Given the description of an element on the screen output the (x, y) to click on. 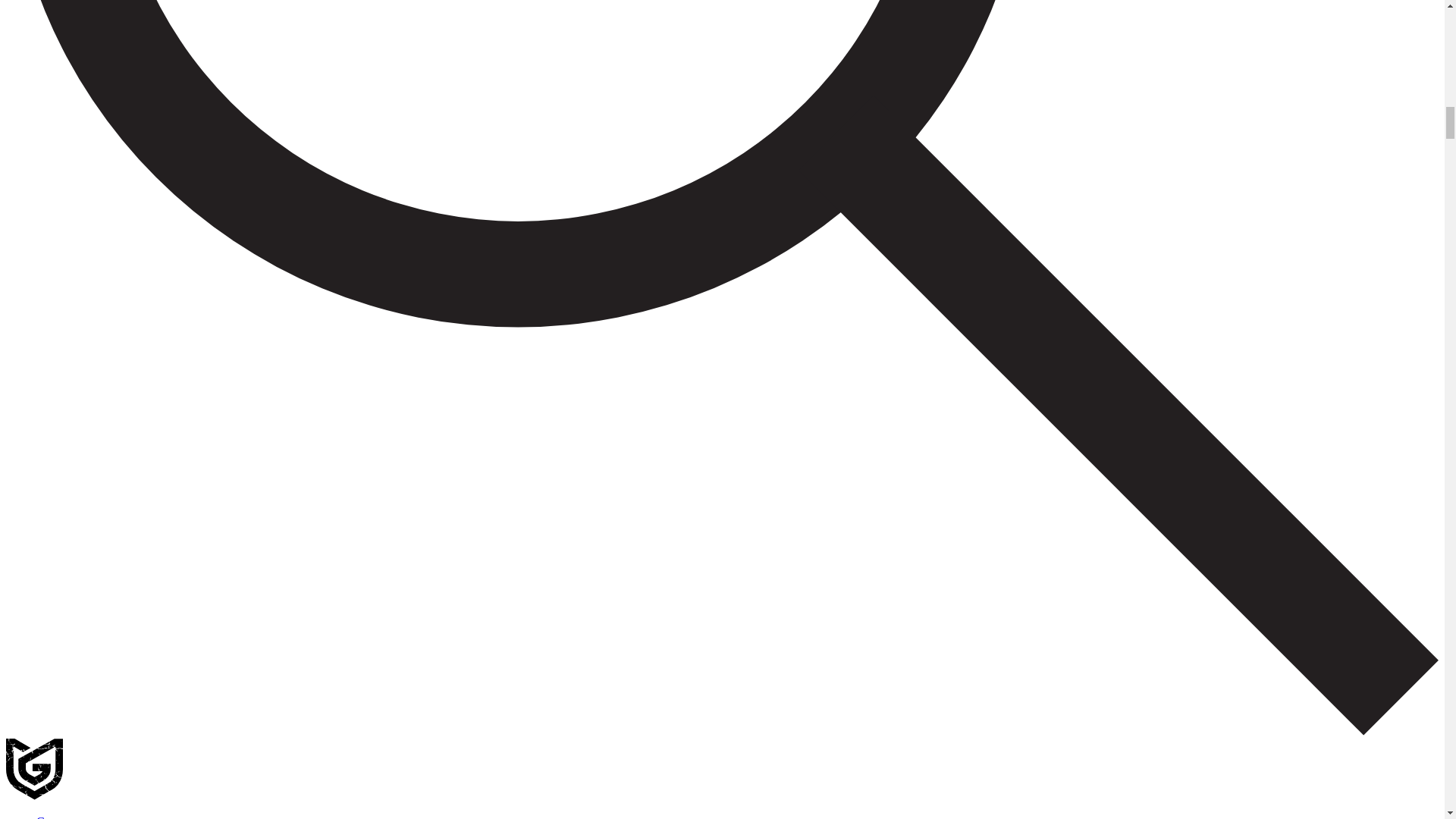
Gear (47, 816)
